Given the description of an element on the screen output the (x, y) to click on. 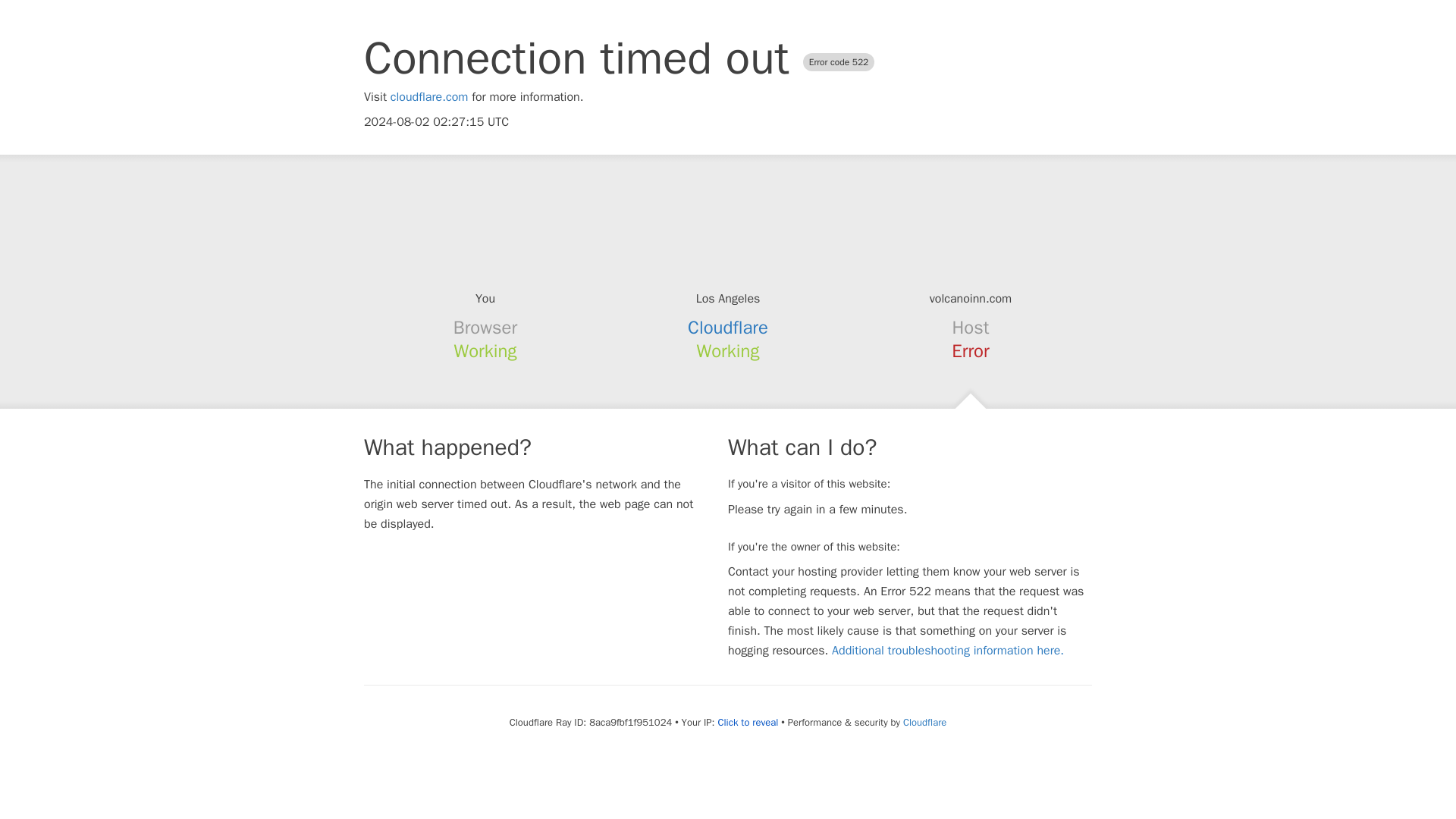
Click to reveal (747, 722)
Cloudflare (924, 721)
cloudflare.com (429, 96)
Additional troubleshooting information here. (947, 650)
Cloudflare (727, 327)
